Given the description of an element on the screen output the (x, y) to click on. 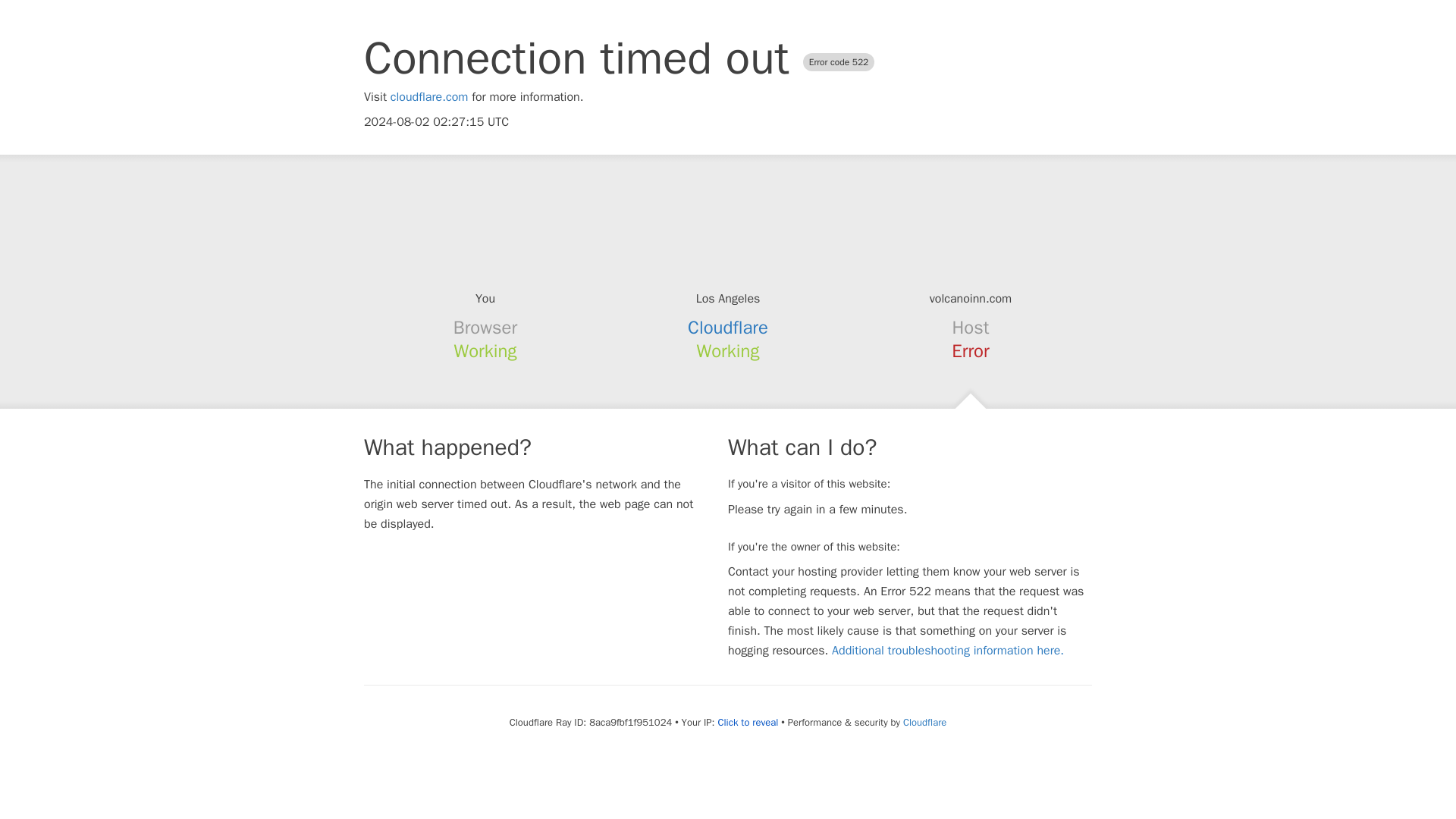
Click to reveal (747, 722)
Cloudflare (924, 721)
cloudflare.com (429, 96)
Additional troubleshooting information here. (947, 650)
Cloudflare (727, 327)
